Given the description of an element on the screen output the (x, y) to click on. 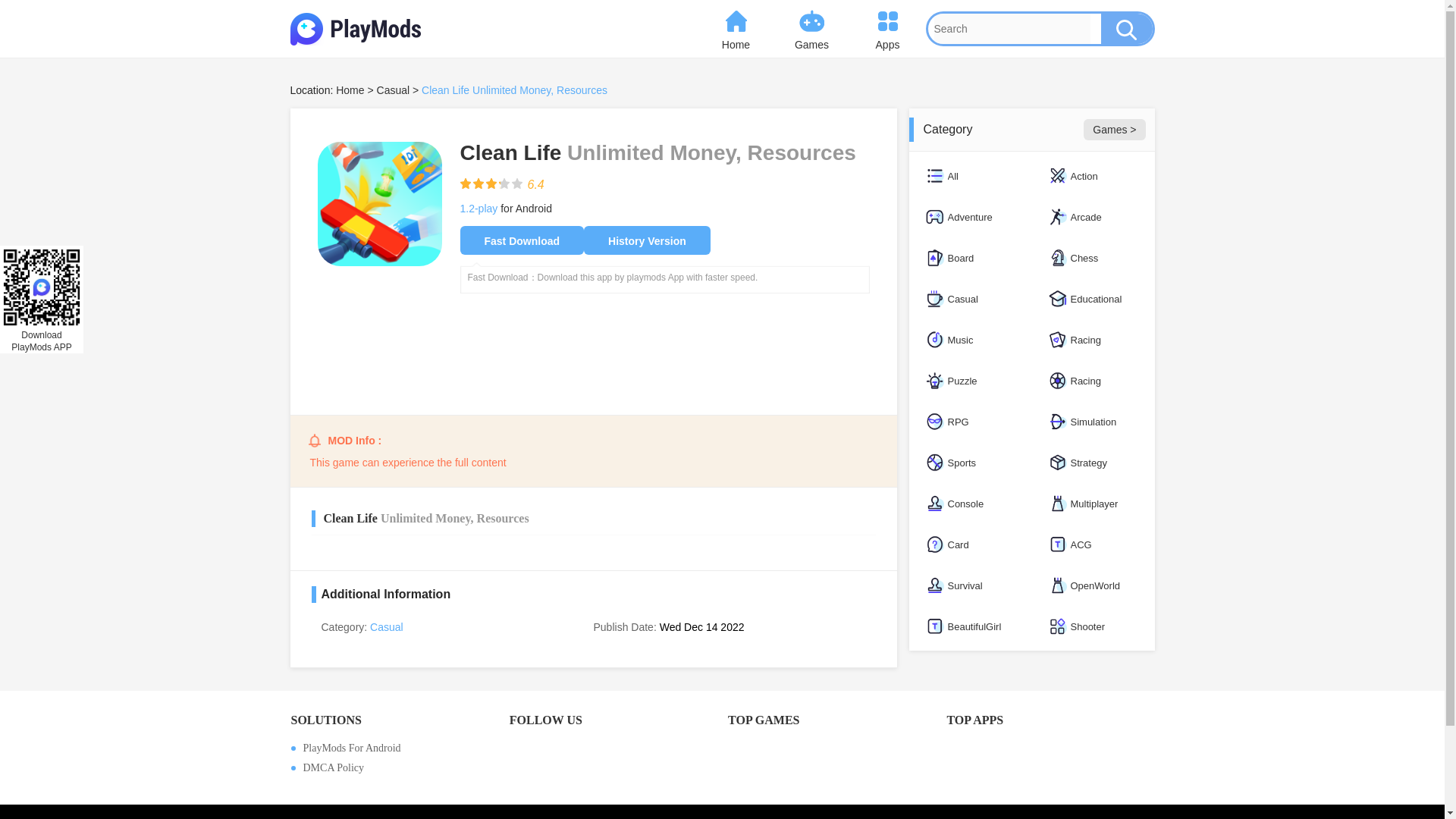
Casual (969, 298)
Multiplayer (1092, 503)
Arcade (1092, 216)
Board (969, 257)
OpenWorld (1092, 585)
Strategy (1092, 462)
Home (735, 28)
Sports (969, 462)
Racing (1092, 380)
DMCA Policy (394, 767)
History Version (646, 240)
Educational (1092, 298)
All (969, 175)
PlayMods For Android (394, 748)
BeautifulGirl (969, 626)
